Given the description of an element on the screen output the (x, y) to click on. 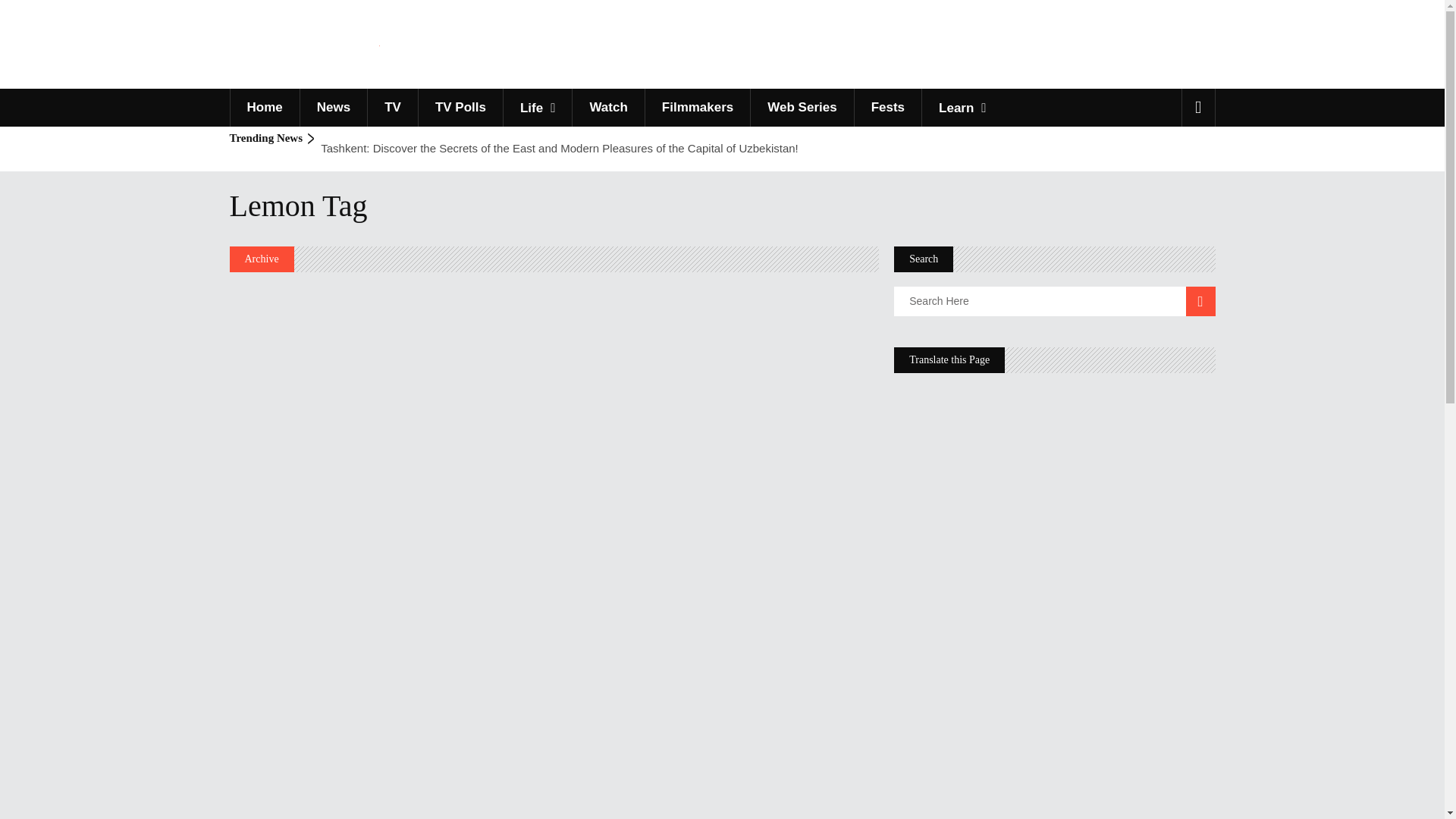
TV (391, 107)
Web Series (801, 107)
Learn (962, 107)
News (332, 107)
Fests (887, 107)
Home (263, 107)
TV Polls (459, 107)
Filmmakers (698, 107)
Watch (607, 107)
Life (537, 107)
